Given the description of an element on the screen output the (x, y) to click on. 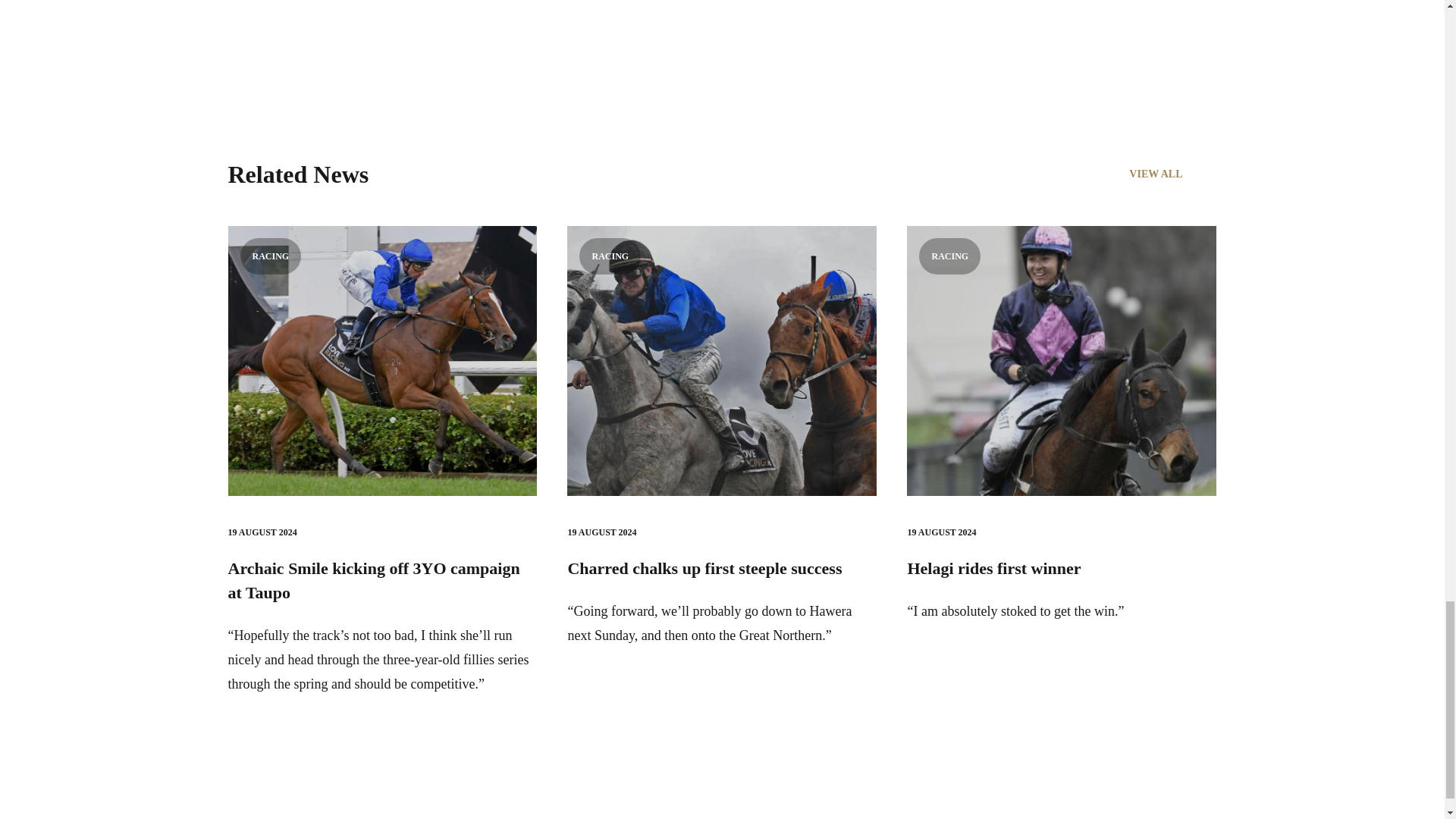
Copy Copy article link to clipboard (478, 18)
Archaic Smile kicking off 3YO campaign at Taupo (373, 579)
RACING (721, 361)
RACING (1061, 361)
Facebook Link to share article on Facebook (388, 18)
Helagi rides first winner (993, 568)
RACING (382, 361)
Twitter Link to share article on Twitter (418, 18)
VIEW ALL (1172, 174)
Charred chalks up first steeple success (704, 568)
